Given the description of an element on the screen output the (x, y) to click on. 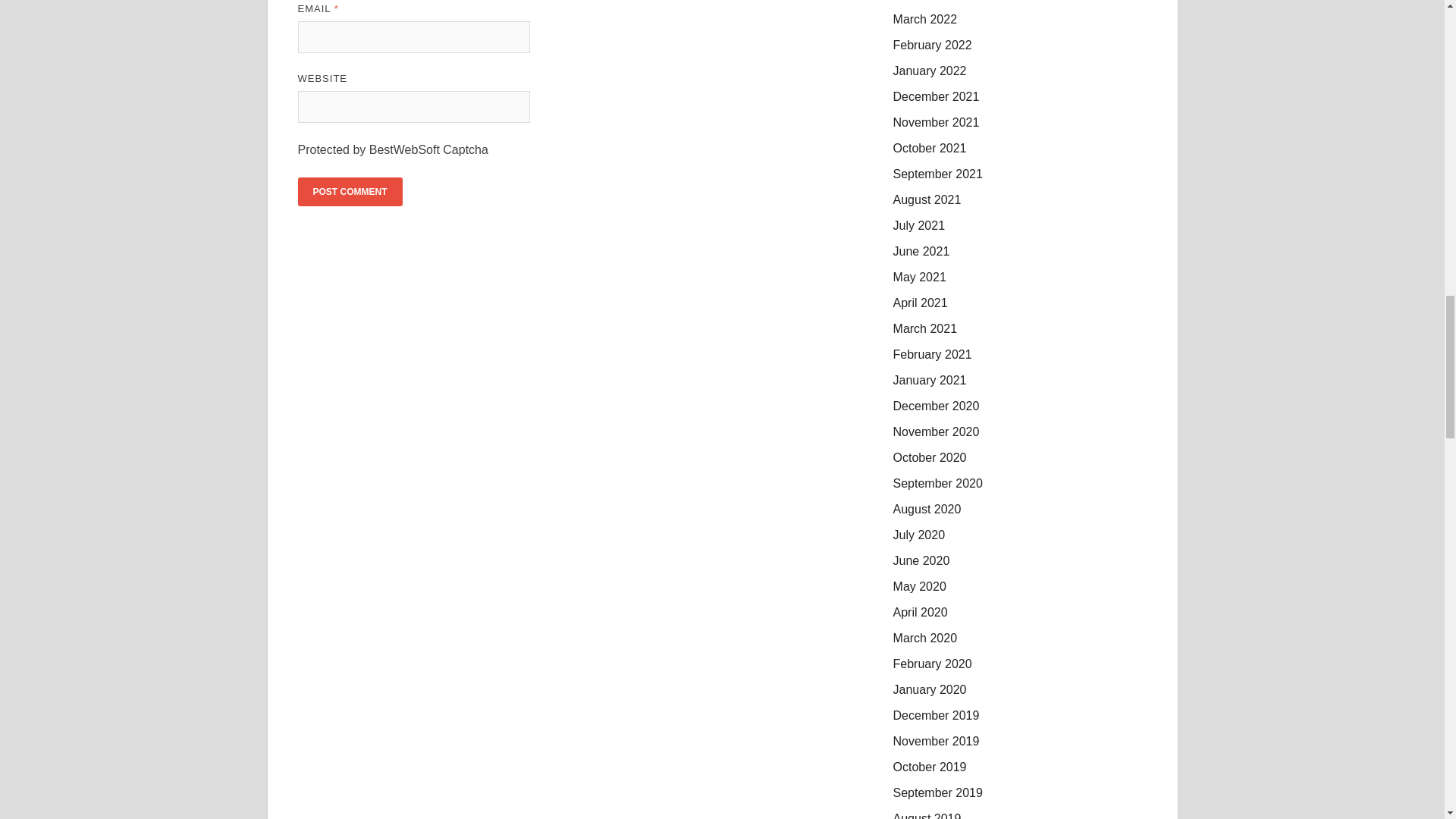
Post Comment (349, 191)
